Given the description of an element on the screen output the (x, y) to click on. 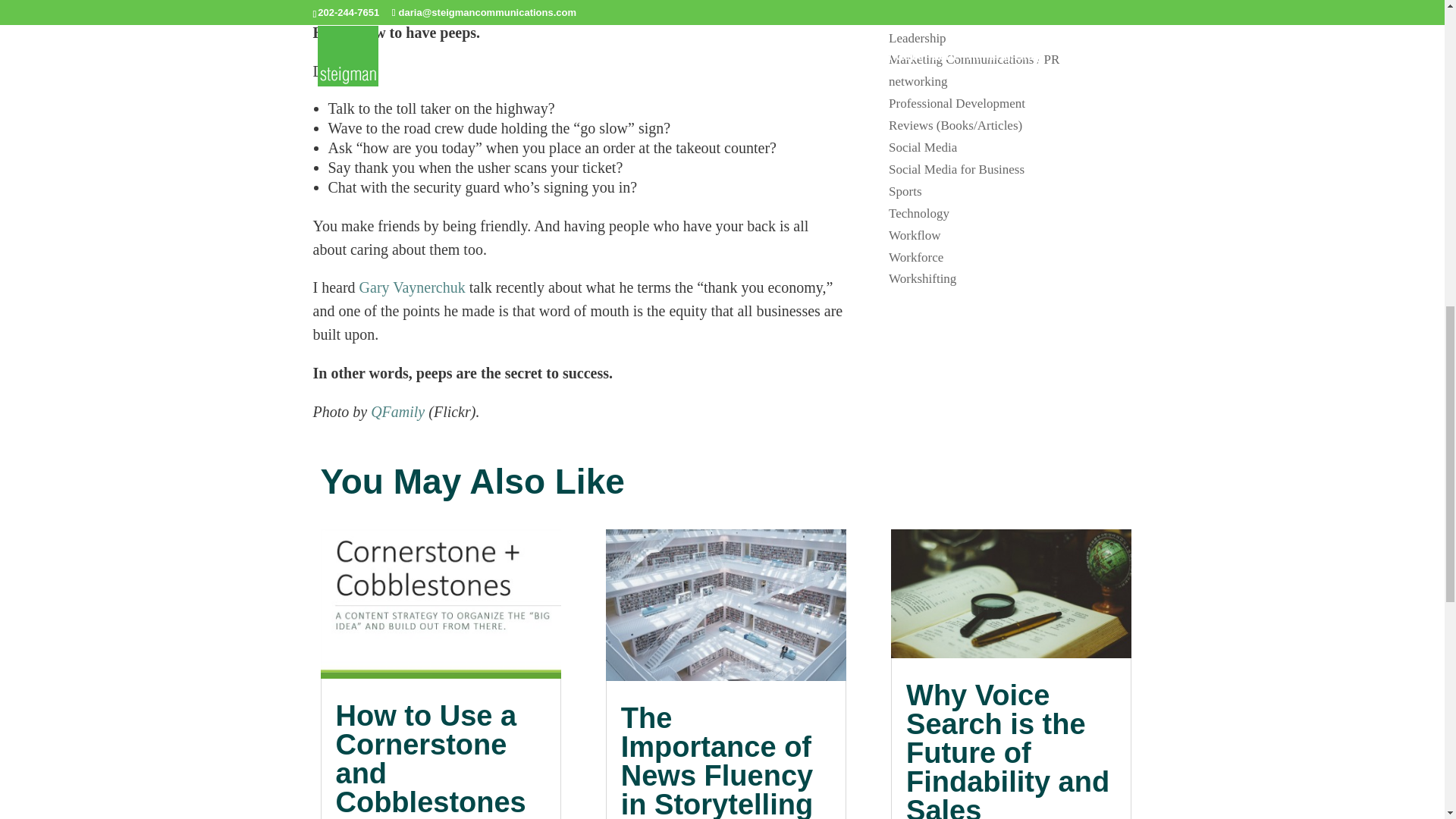
Leadership (917, 38)
QFamily (398, 411)
Professional Development (956, 103)
innovation (915, 16)
Social Media (922, 147)
Independent Thinking (945, 0)
Gary Vaynerchuk (412, 287)
Gary Vaynerchuk (412, 287)
networking (917, 81)
photo credit (398, 411)
